Given the description of an element on the screen output the (x, y) to click on. 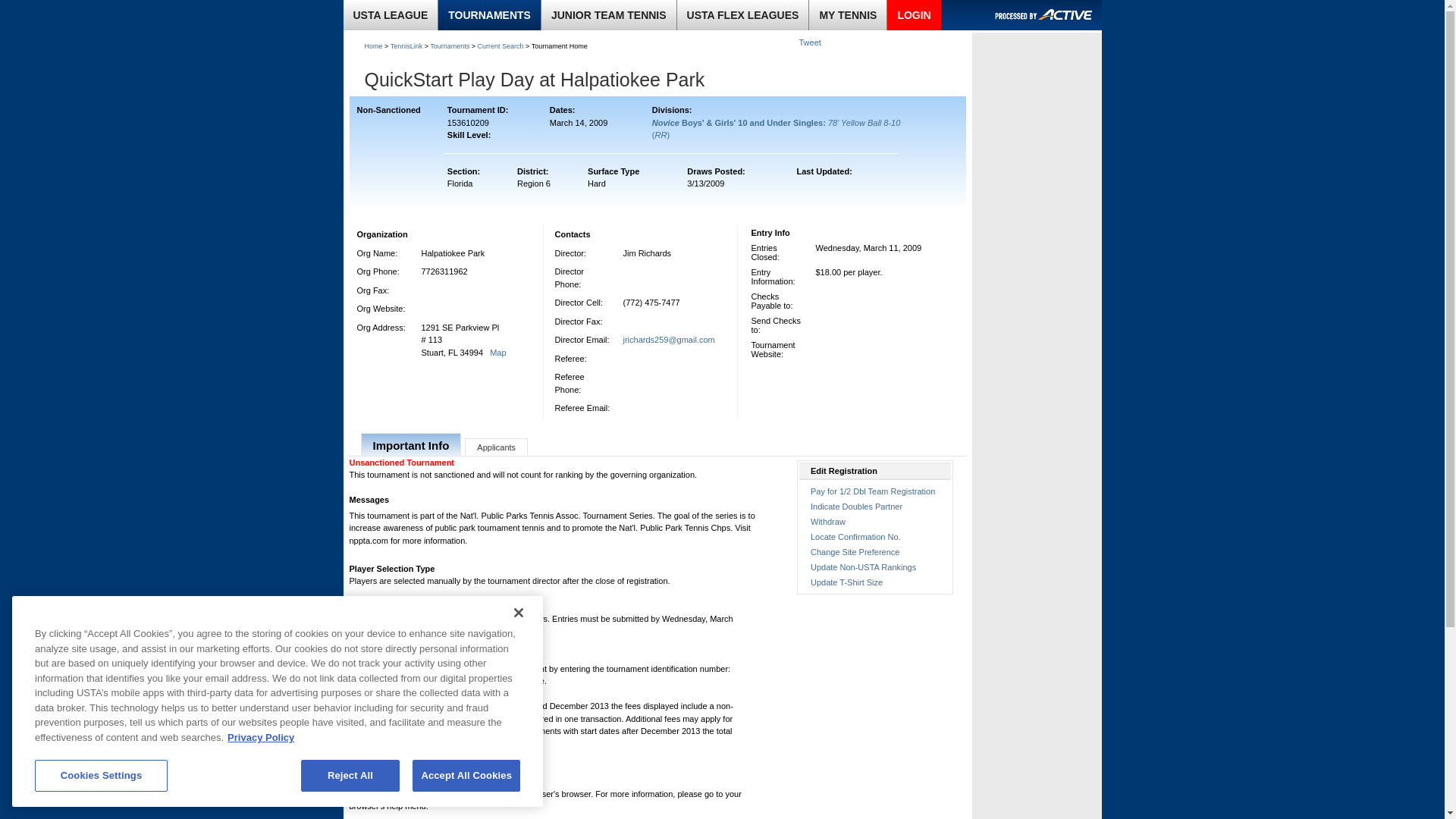
LOGIN (913, 15)
